Given the description of an element on the screen output the (x, y) to click on. 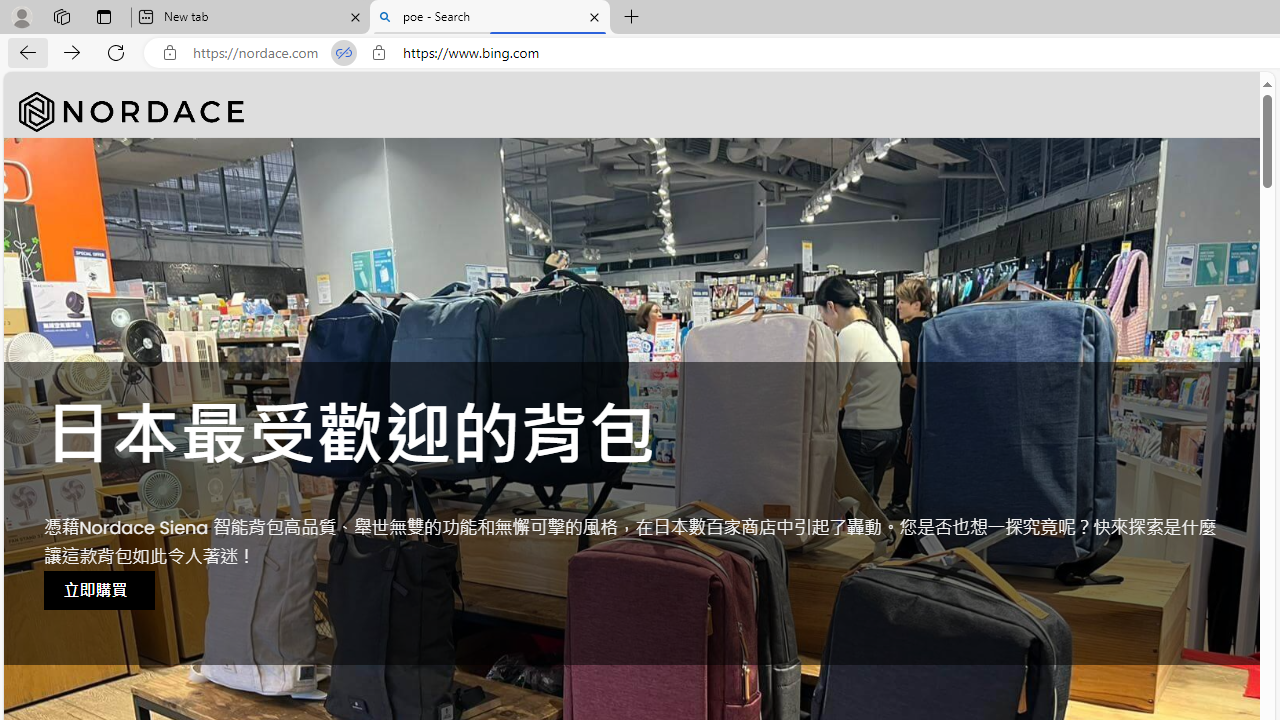
poe - Search (490, 17)
Tabs in split screen (344, 53)
Forward (72, 52)
